Given the description of an element on the screen output the (x, y) to click on. 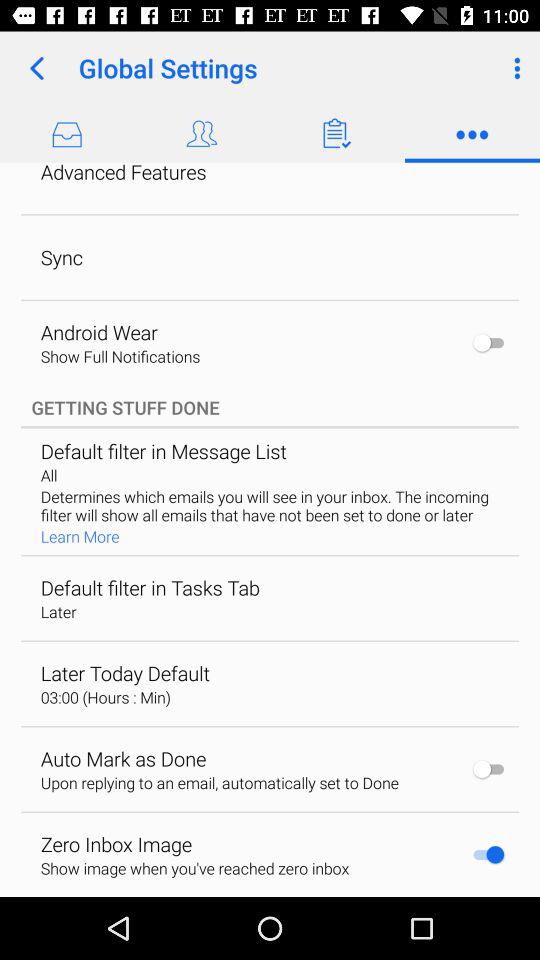
turn on app below later today default item (105, 697)
